Given the description of an element on the screen output the (x, y) to click on. 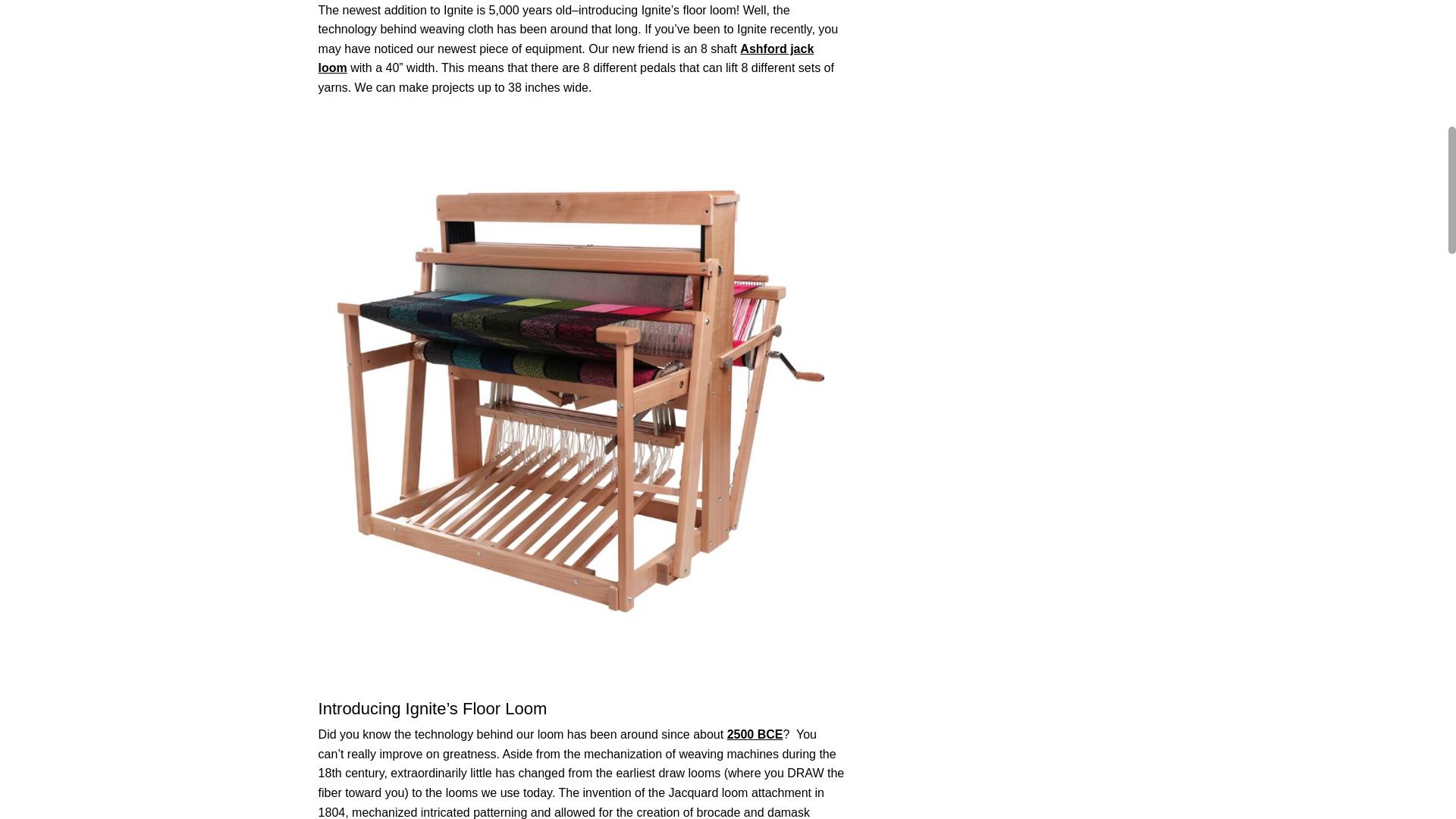
2500 BCE (754, 734)
Ashford jack loom (565, 58)
